Given the description of an element on the screen output the (x, y) to click on. 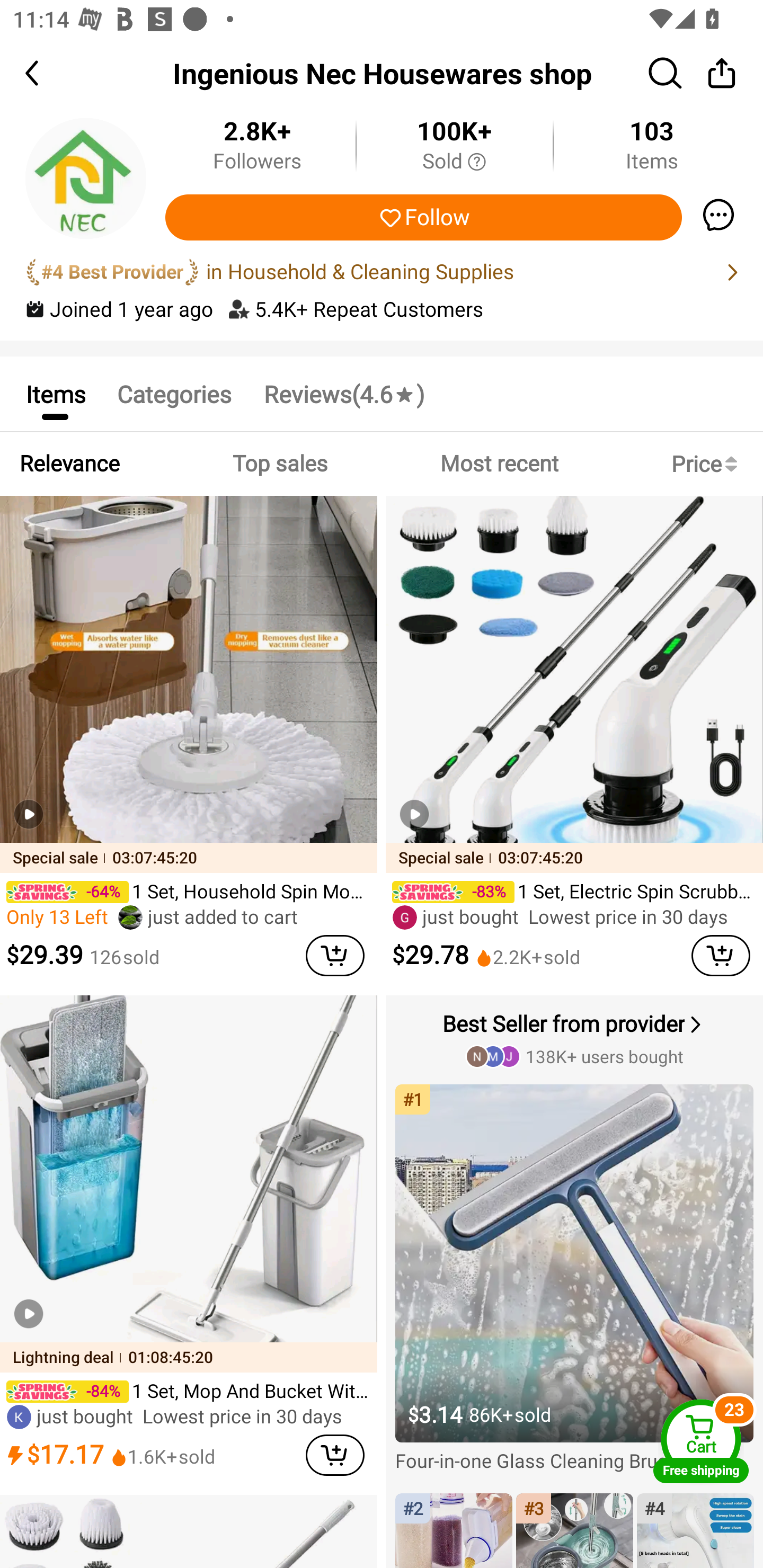
back (47, 72)
share (721, 72)
Sold (453, 161)
#4 Best Provider in Household & Cleaning Supplies (381, 272)
Items (55, 393)
Categories (174, 393)
Reviews(4.6 ) (343, 393)
Relevance (69, 463)
Top sales (279, 463)
Most recent (498, 463)
Price (707, 463)
cart delete (334, 955)
cart delete (720, 955)
Best Seller from provider 138K+ users bought (576, 1037)
Cart Free shipping Cart (701, 1440)
cart delete (334, 1454)
#2 (453, 1530)
#3 (574, 1530)
#4 (695, 1530)
